Given the description of an element on the screen output the (x, y) to click on. 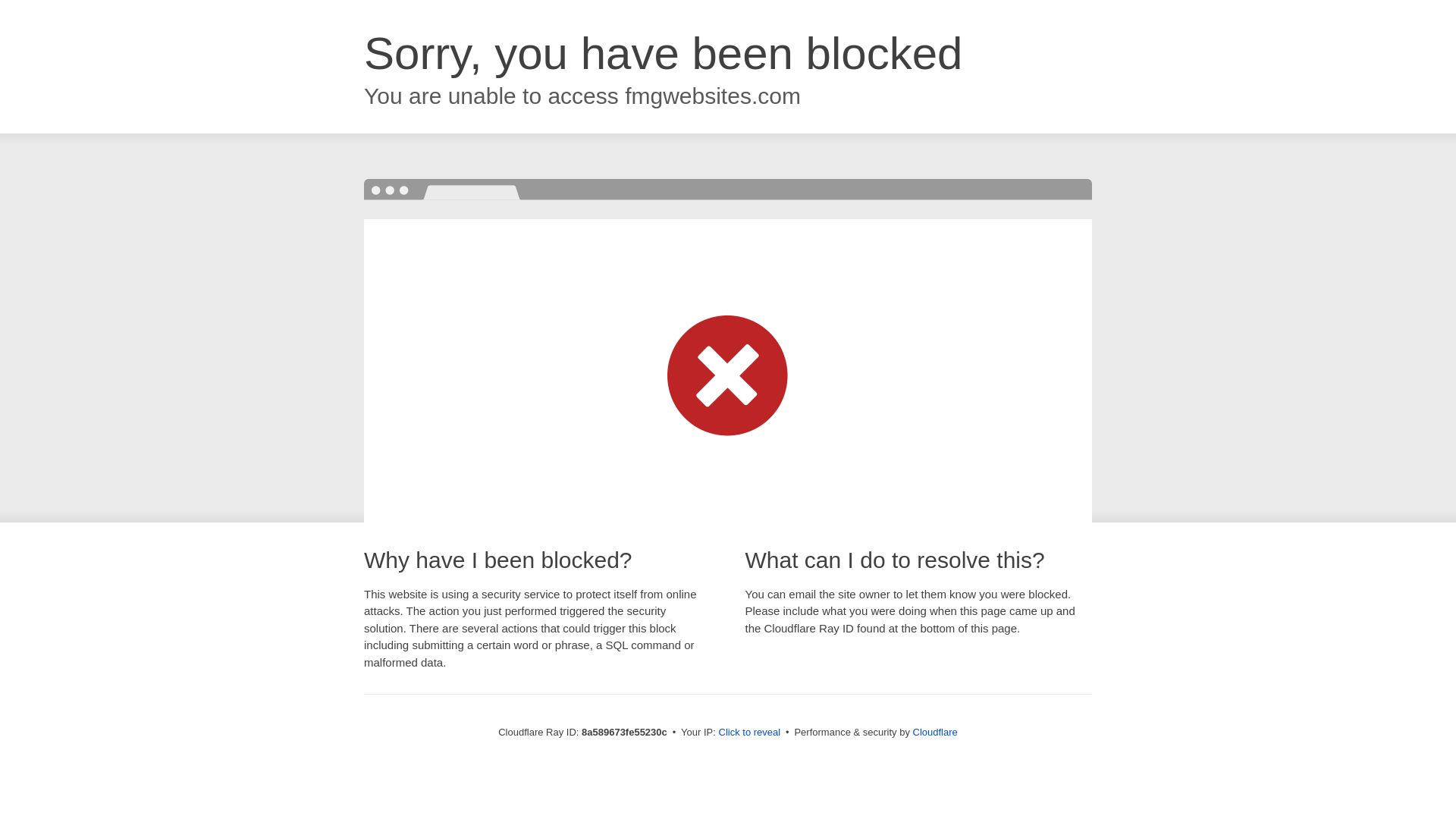
Click to reveal (749, 732)
Cloudflare (935, 731)
